Given the description of an element on the screen output the (x, y) to click on. 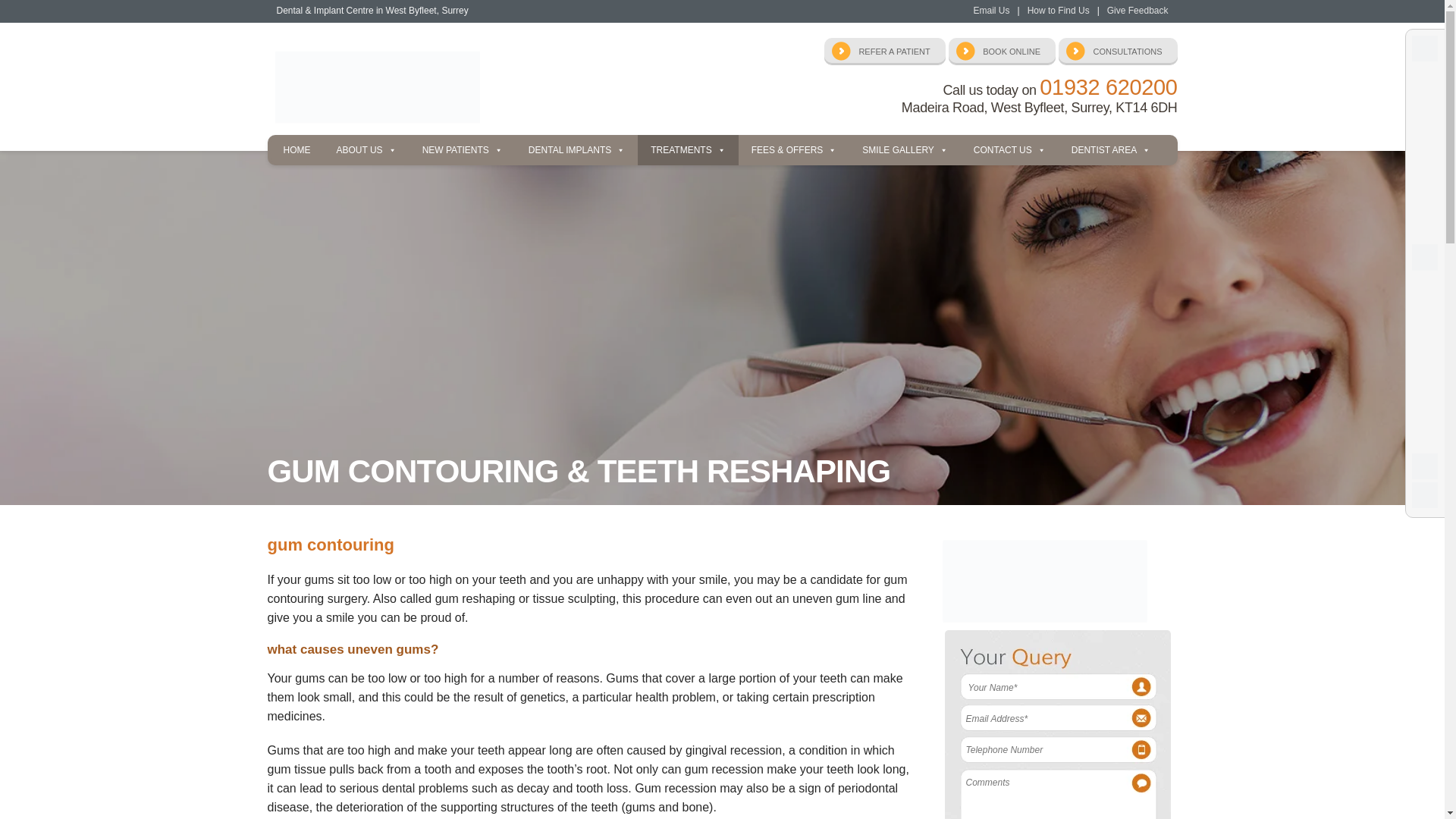
Consultations (1117, 51)
HOME (296, 150)
How to Find Us (1058, 9)
Refer a patient (884, 51)
Book Online (1002, 51)
DENTAL IMPLANTS (576, 150)
Consultations (1117, 51)
NEW PATIENTS (462, 150)
Give Feedback (1137, 9)
ABOUT US (366, 150)
Email Us (990, 9)
Book Online (1002, 51)
Refer a patient (884, 51)
